Given the description of an element on the screen output the (x, y) to click on. 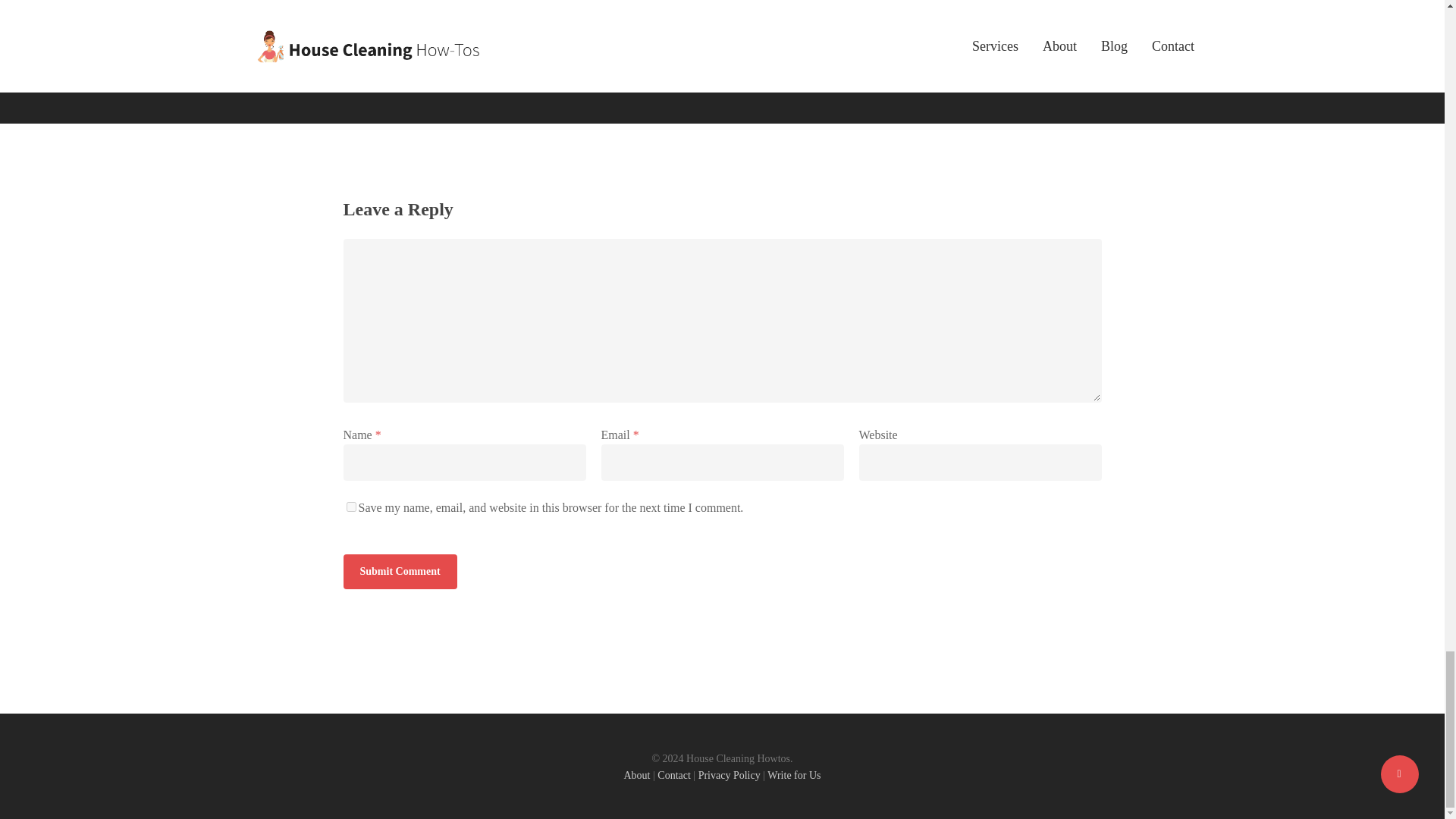
yes (350, 506)
Submit Comment (399, 571)
Submit Comment (399, 571)
